Given the description of an element on the screen output the (x, y) to click on. 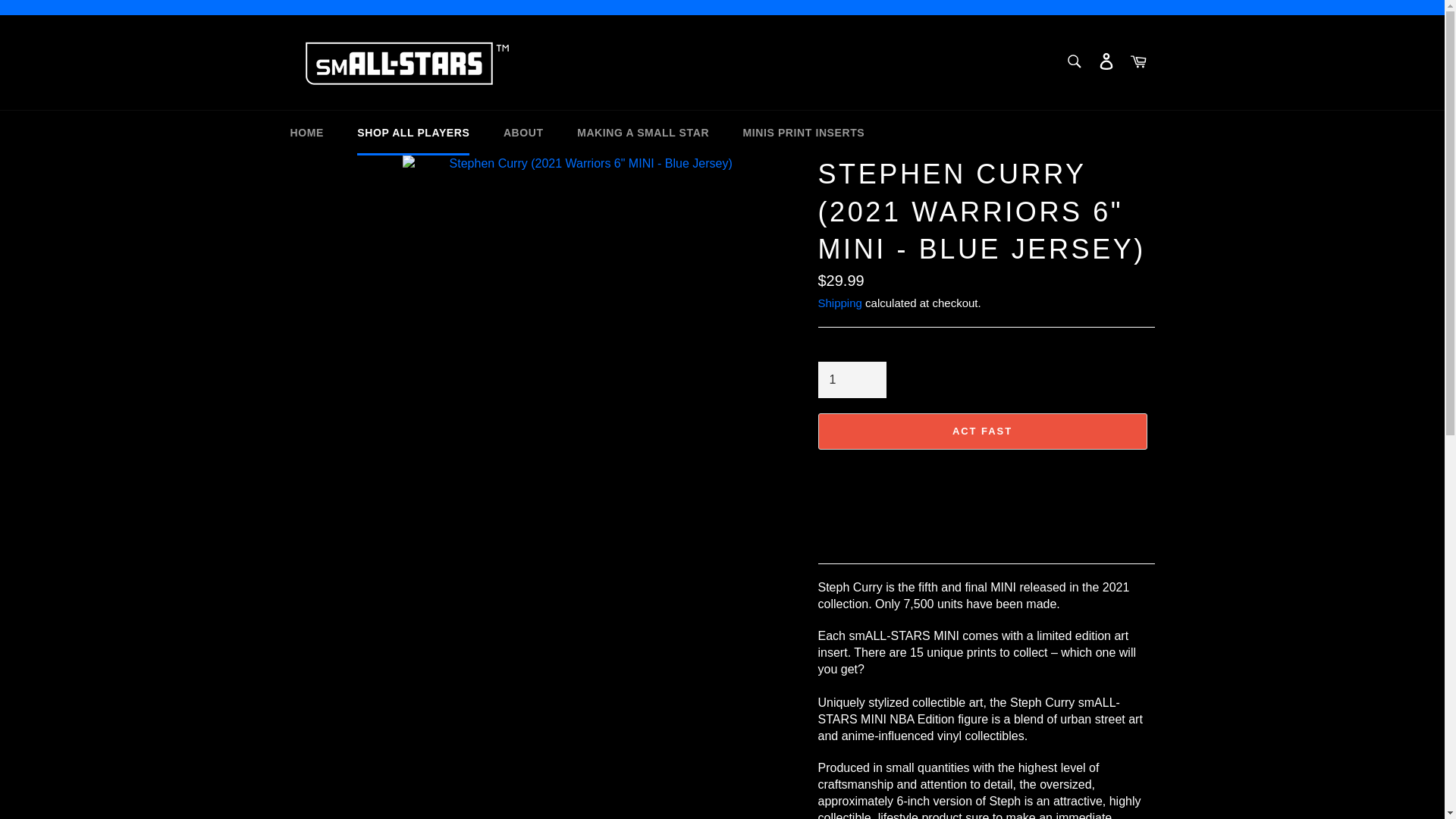
Shipping (838, 302)
SHOP ALL PLAYERS (413, 132)
Cart (1138, 62)
MAKING A SMALL STAR (642, 132)
ABOUT (523, 132)
Search (1073, 60)
ACT FAST (981, 431)
1 (850, 379)
MINIS PRINT INSERTS (804, 132)
HOME (306, 132)
